Given the description of an element on the screen output the (x, y) to click on. 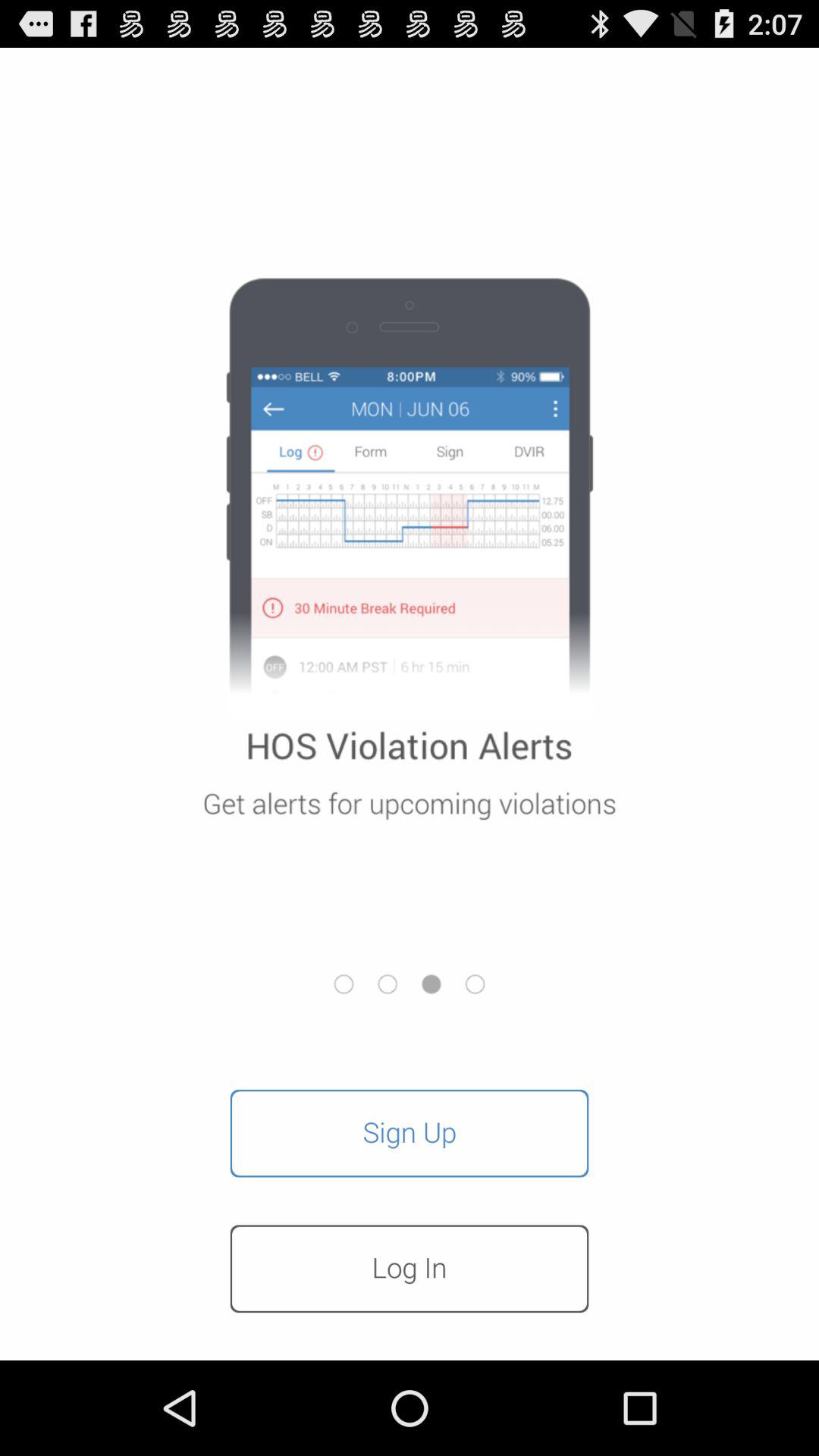
click button above log in button (409, 1133)
